Given the description of an element on the screen output the (x, y) to click on. 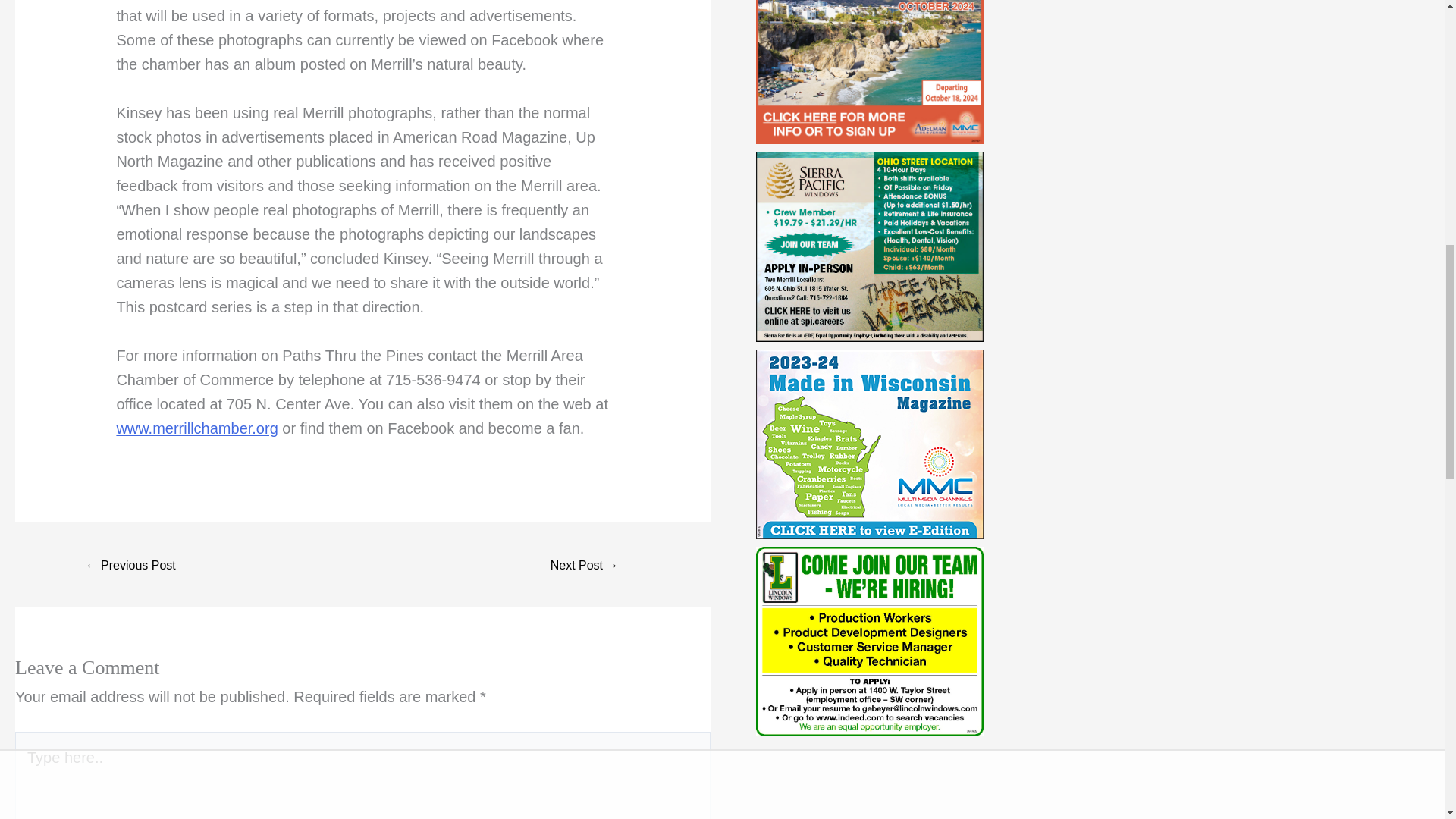
"Saved by Angels" (585, 565)
